Given the description of an element on the screen output the (x, y) to click on. 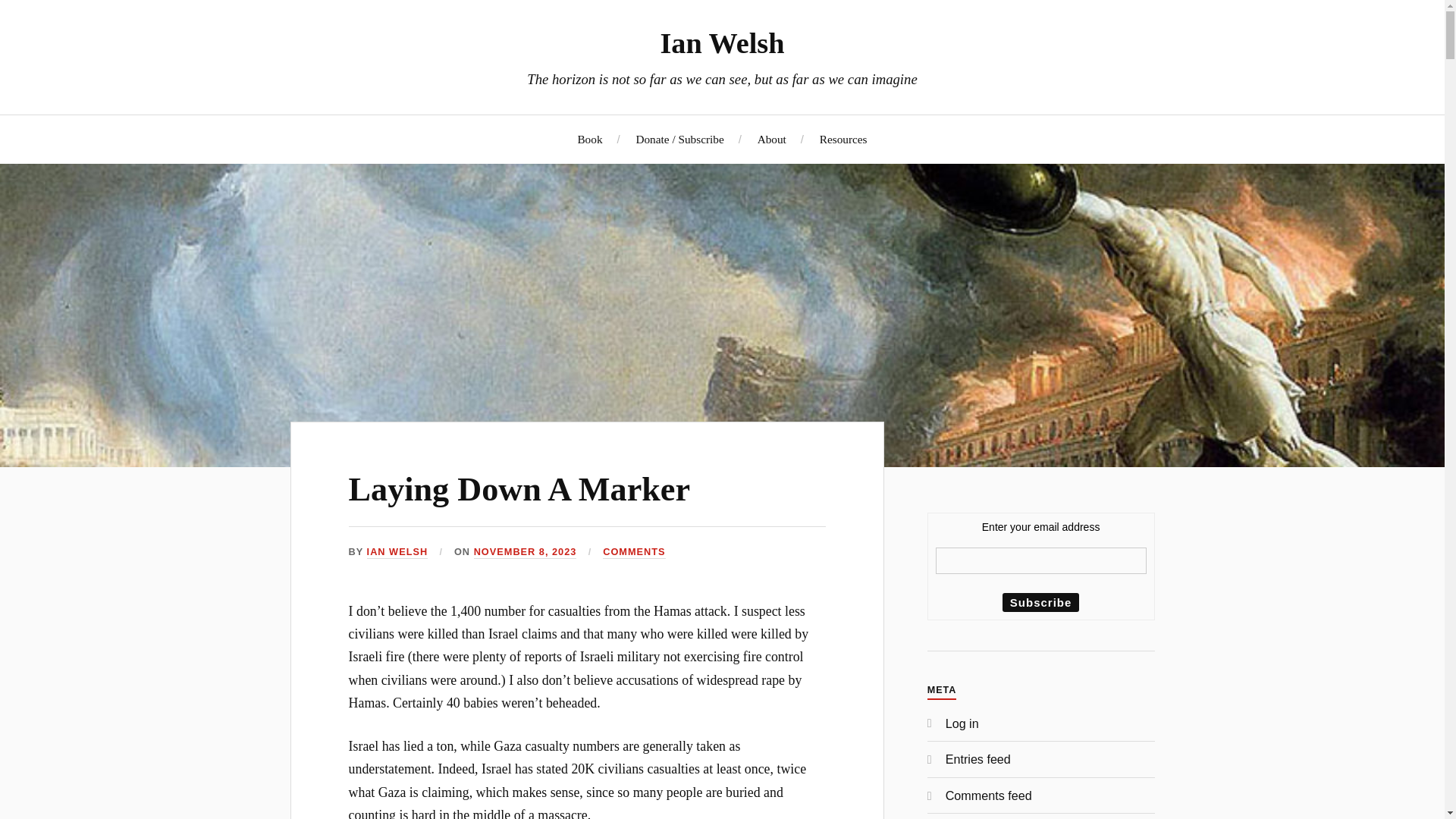
Ian Welsh (721, 42)
Book (589, 138)
COMMENTS (633, 552)
NOVEMBER 8, 2023 (525, 552)
Entries feed (977, 758)
Subscribe (1041, 601)
About (771, 138)
Resources (843, 138)
Posts by Ian Welsh (397, 552)
IAN WELSH (397, 552)
Laying Down A Marker (519, 488)
Subscribe (1041, 601)
Log in (961, 723)
